Given the description of an element on the screen output the (x, y) to click on. 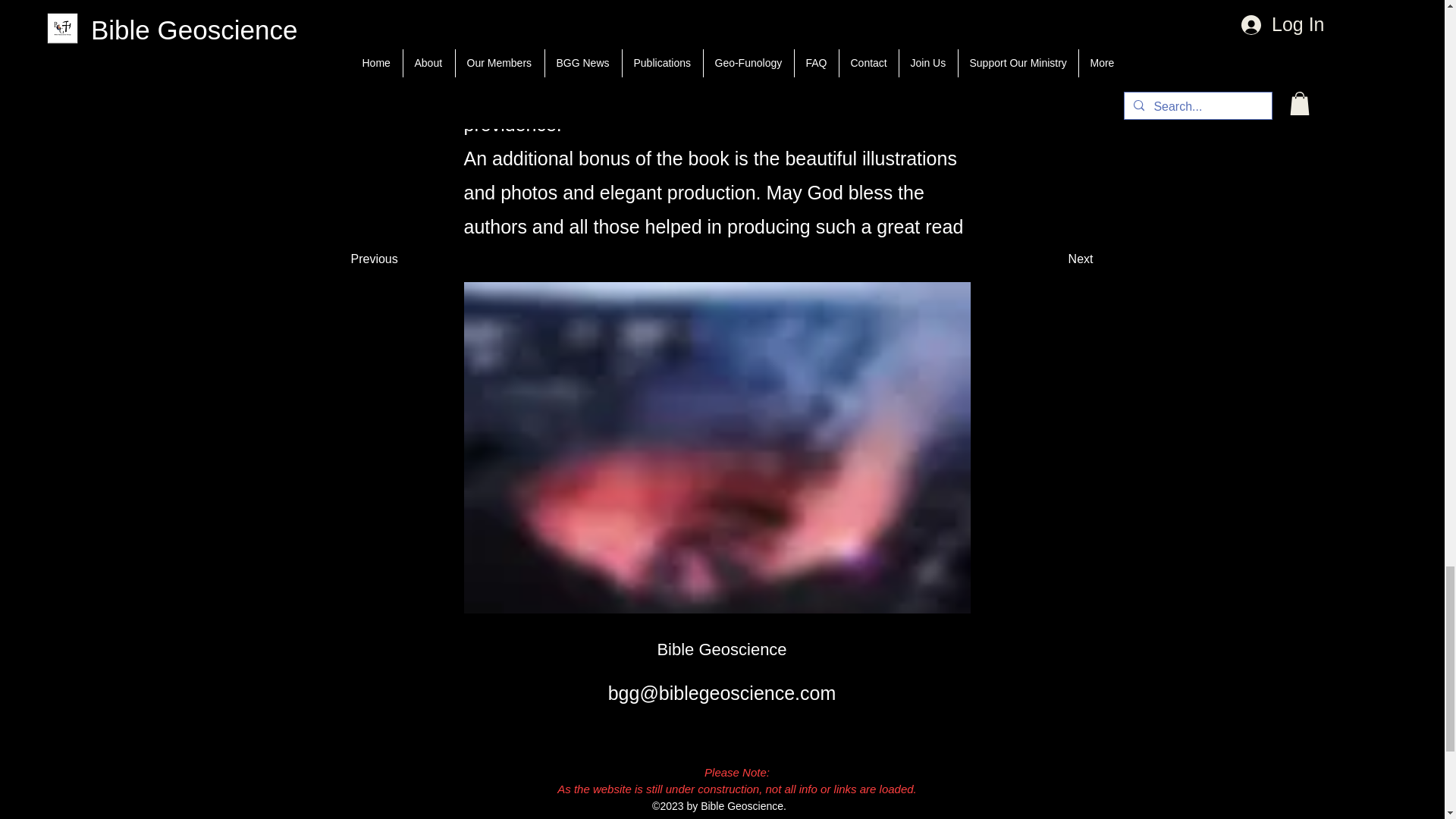
Next (1055, 259)
Previous (388, 259)
